Given the description of an element on the screen output the (x, y) to click on. 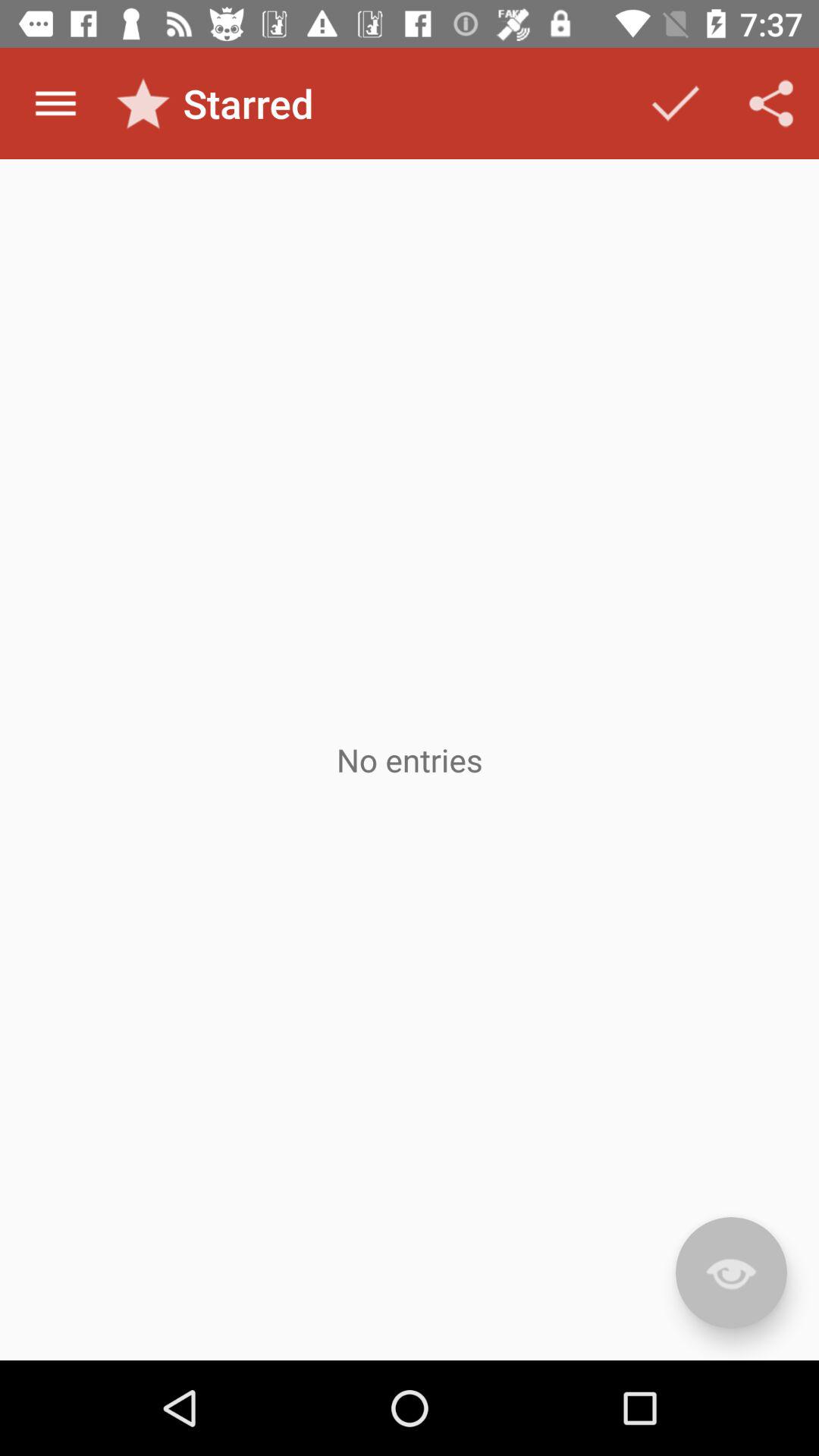
click the item at the bottom right corner (731, 1272)
